Given the description of an element on the screen output the (x, y) to click on. 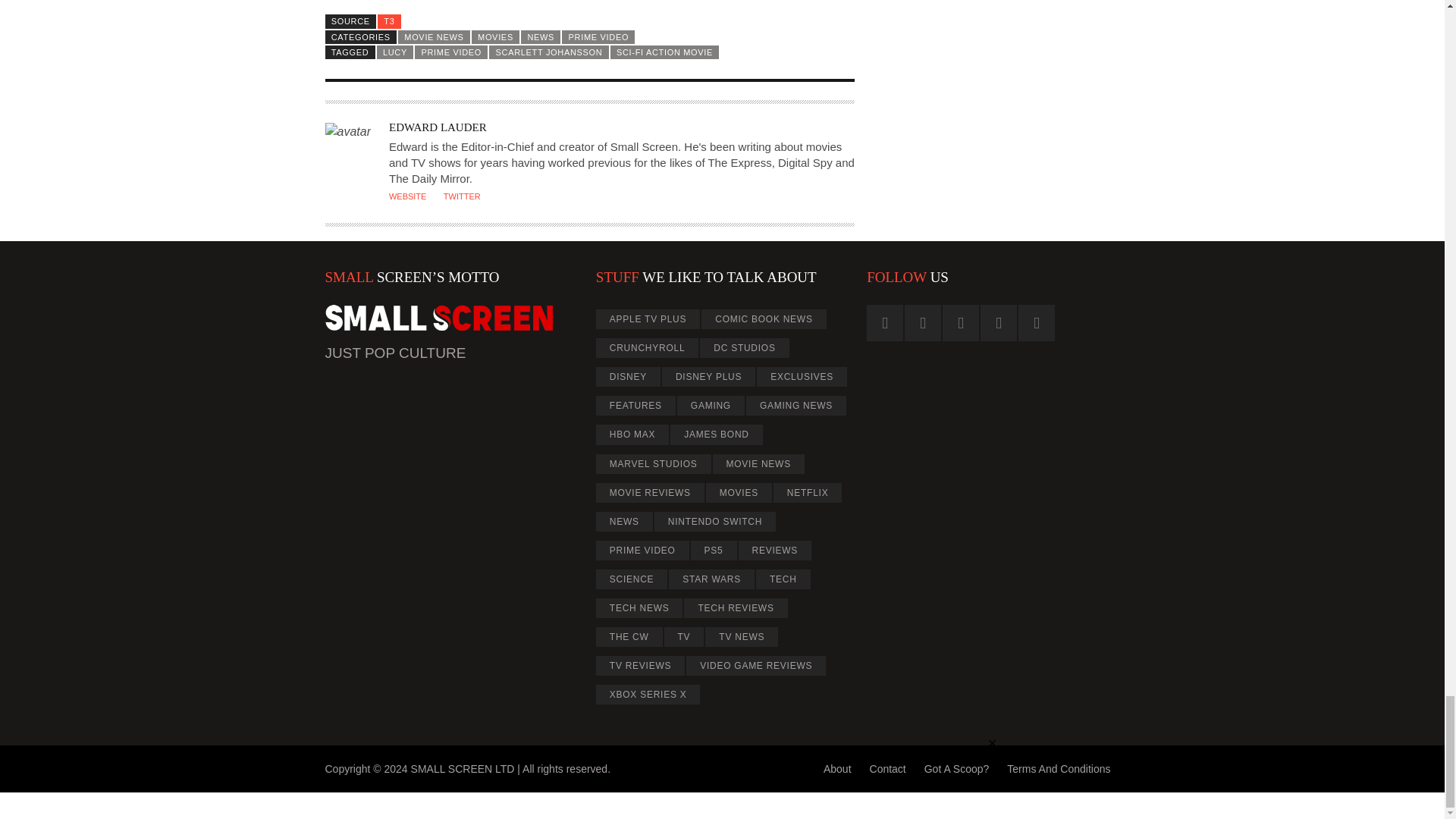
View all posts in MOVIES (495, 36)
View all posts in MOVIE NEWS (433, 36)
View all posts tagged lucy (395, 51)
View all posts tagged Sci-fi action movie (664, 51)
View all posts tagged Scarlett Johansson (548, 51)
View all posts in NEWS (540, 36)
Posts by Edward Lauder (437, 127)
View all posts tagged Prime Video (450, 51)
View all posts in PRIME VIDEO (598, 36)
